Given the description of an element on the screen output the (x, y) to click on. 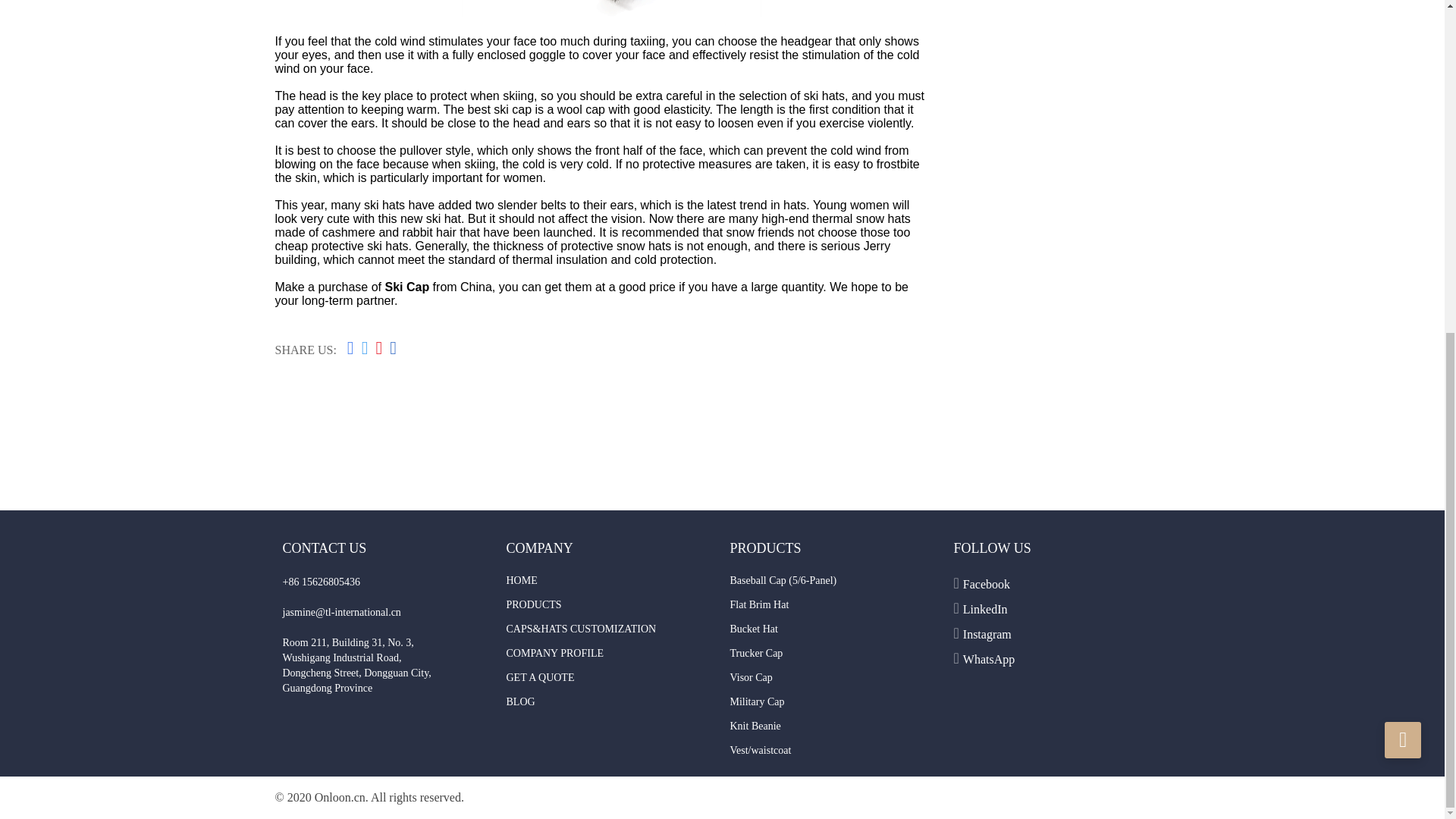
Visor Cap (750, 677)
GET A QUOTE (540, 677)
HOME (521, 580)
Ski Cap (406, 286)
Trucker Cap (756, 653)
Flat Brim Hat (759, 604)
Military Cap (756, 701)
COMPANY PROFILE (555, 653)
PRODUCTS (534, 604)
BLOG (520, 701)
